Given the description of an element on the screen output the (x, y) to click on. 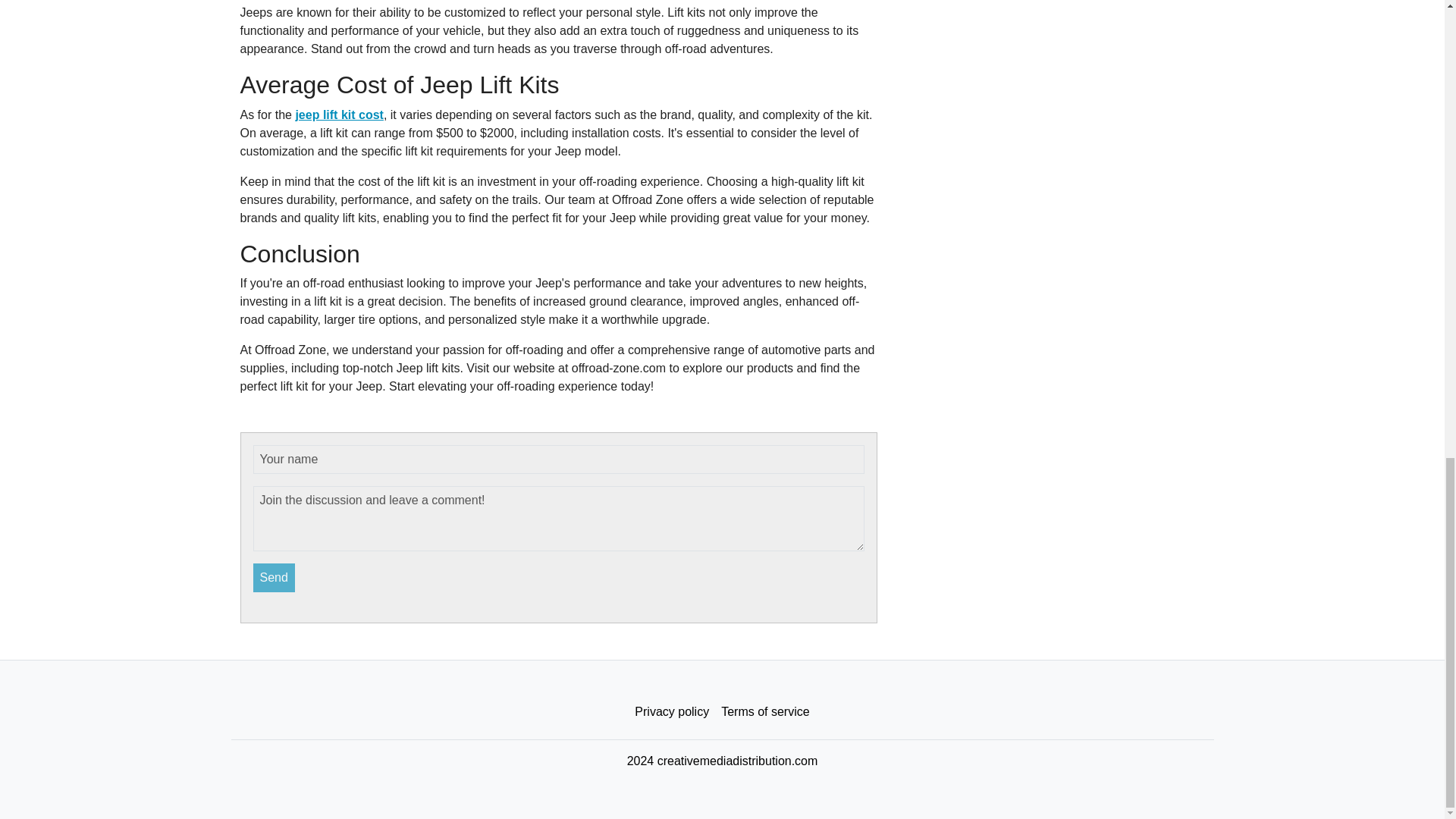
jeep lift kit cost (338, 114)
Terms of service (764, 711)
Privacy policy (671, 711)
Send (274, 577)
Send (274, 577)
